Given the description of an element on the screen output the (x, y) to click on. 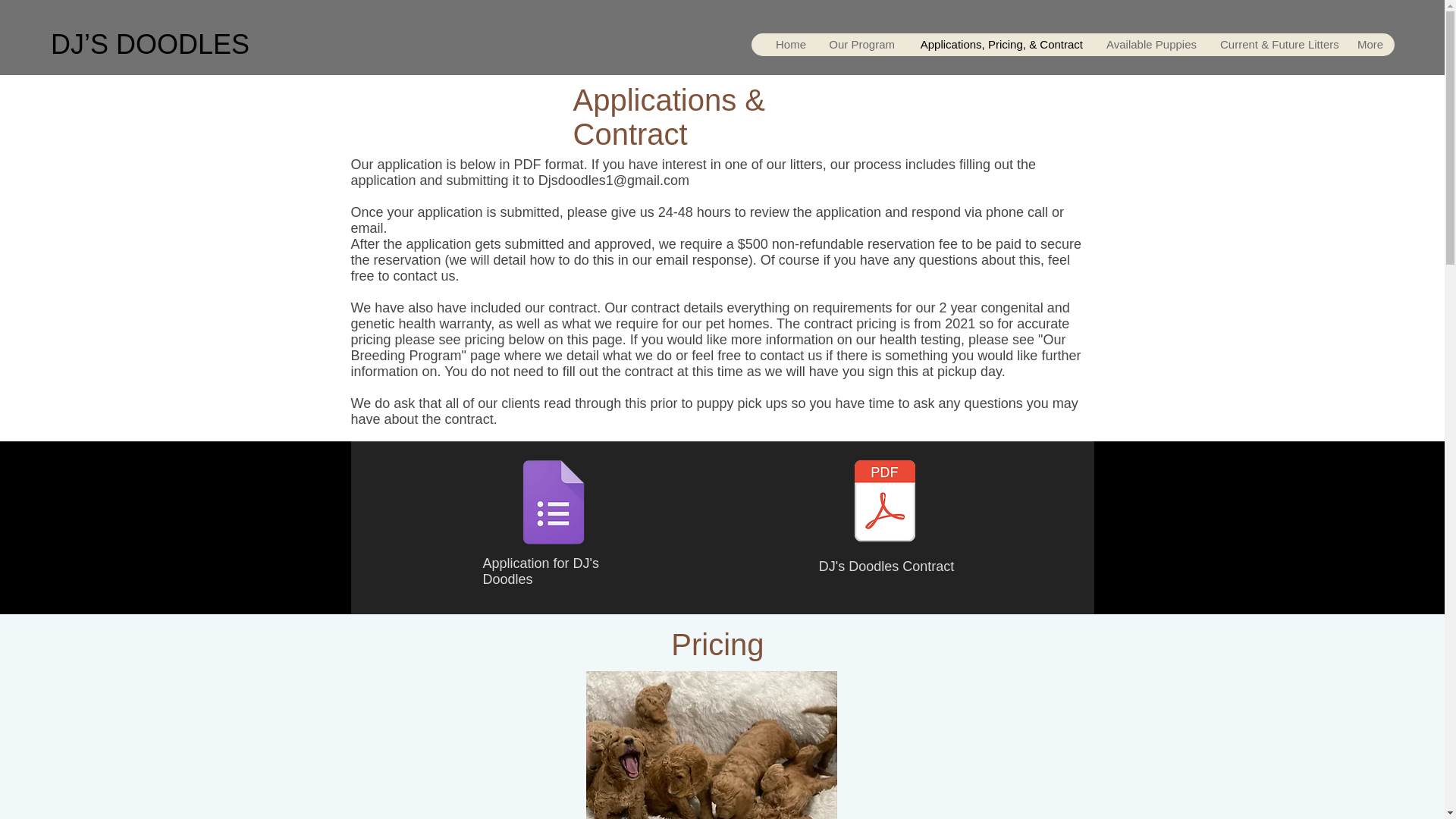
Google Form Logo (553, 504)
Our Program (860, 44)
Available Puppies (1151, 44)
Home (789, 44)
